Given the description of an element on the screen output the (x, y) to click on. 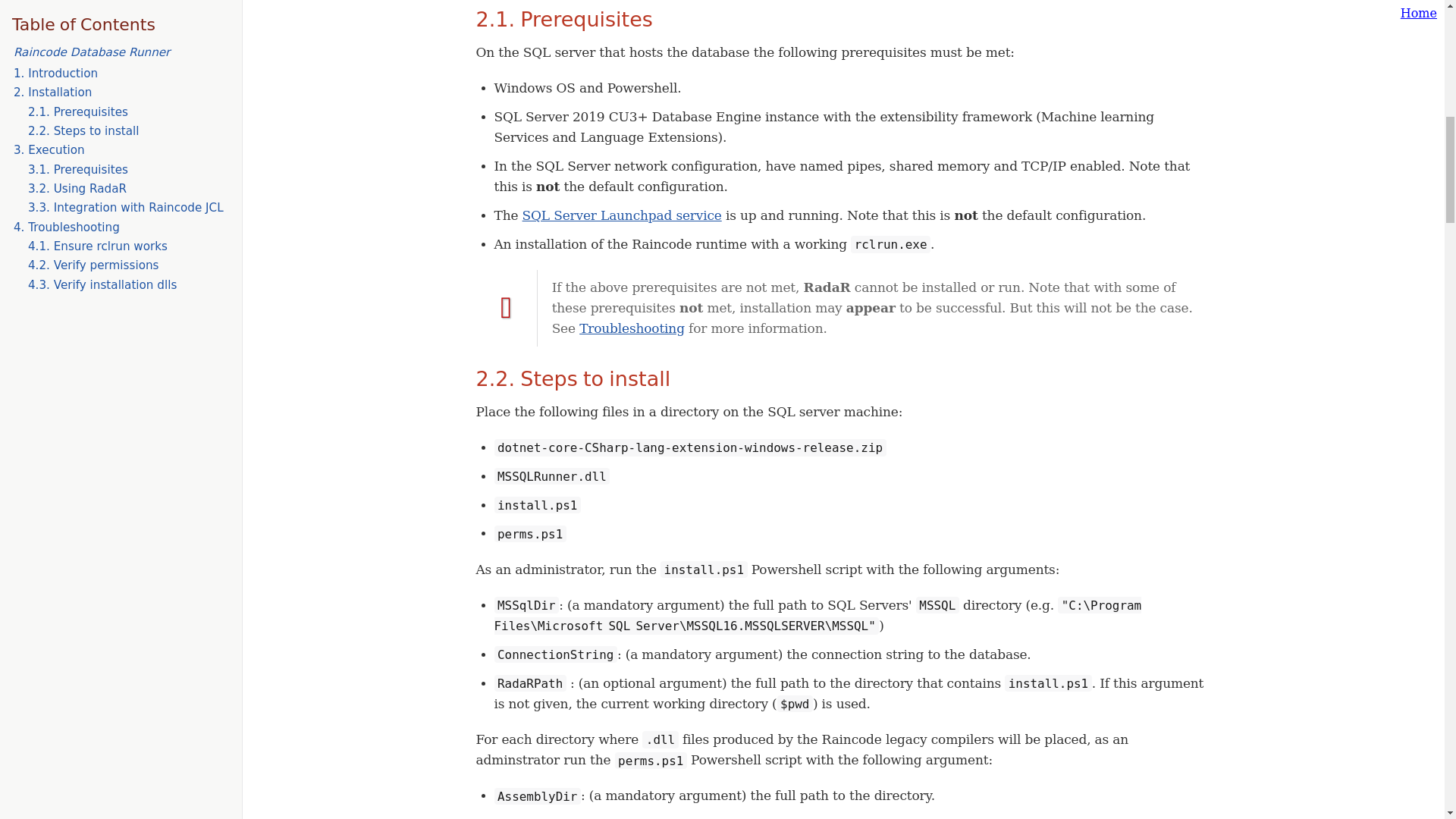
Important (506, 307)
Troubleshooting (631, 328)
SQL Server Launchpad service (622, 215)
